Given the description of an element on the screen output the (x, y) to click on. 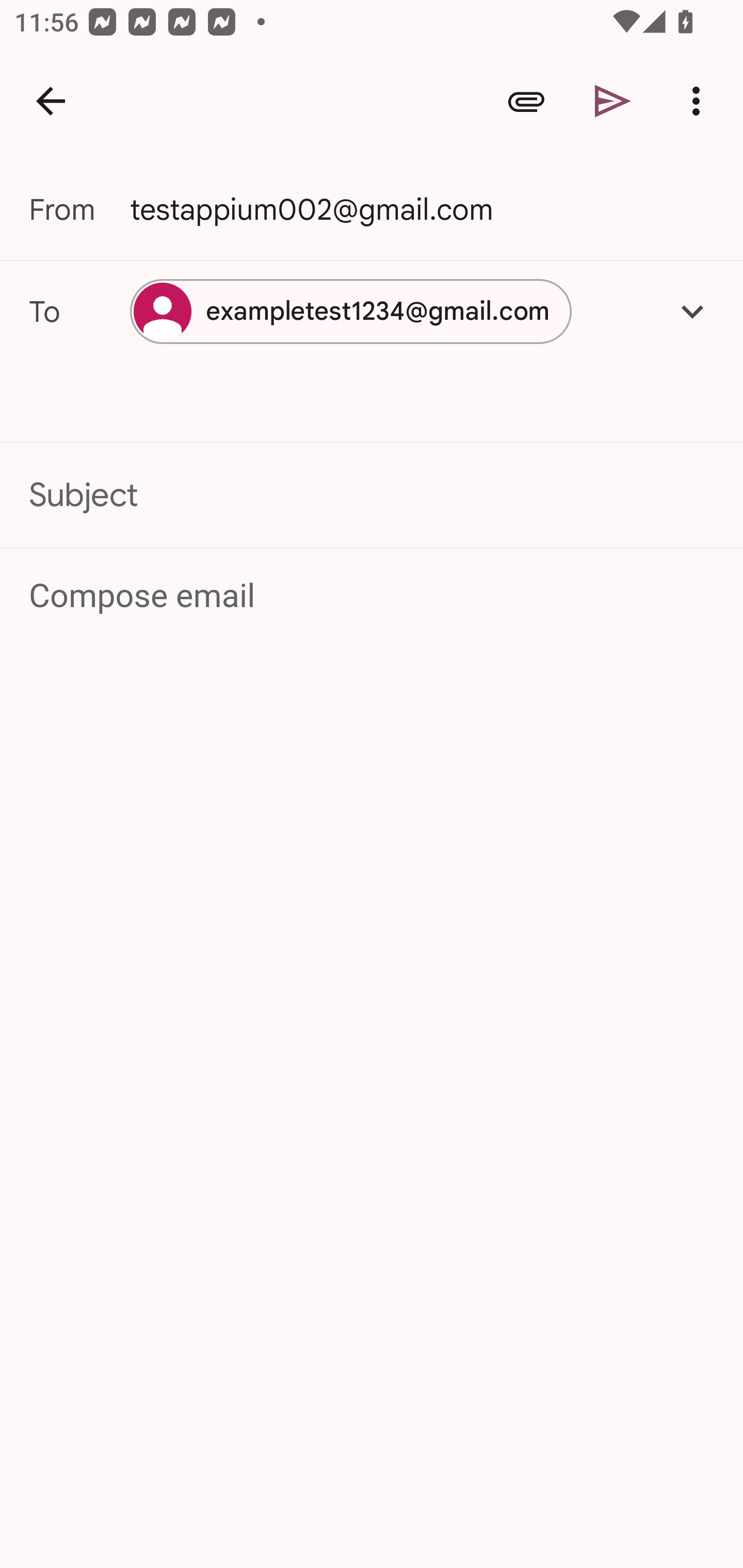
Navigate up (50, 101)
Attach file (525, 101)
Send (612, 101)
More options (699, 101)
From (79, 209)
Add Cc/Bcc (692, 311)
Subject (371, 494)
Compose email (372, 595)
